Given the description of an element on the screen output the (x, y) to click on. 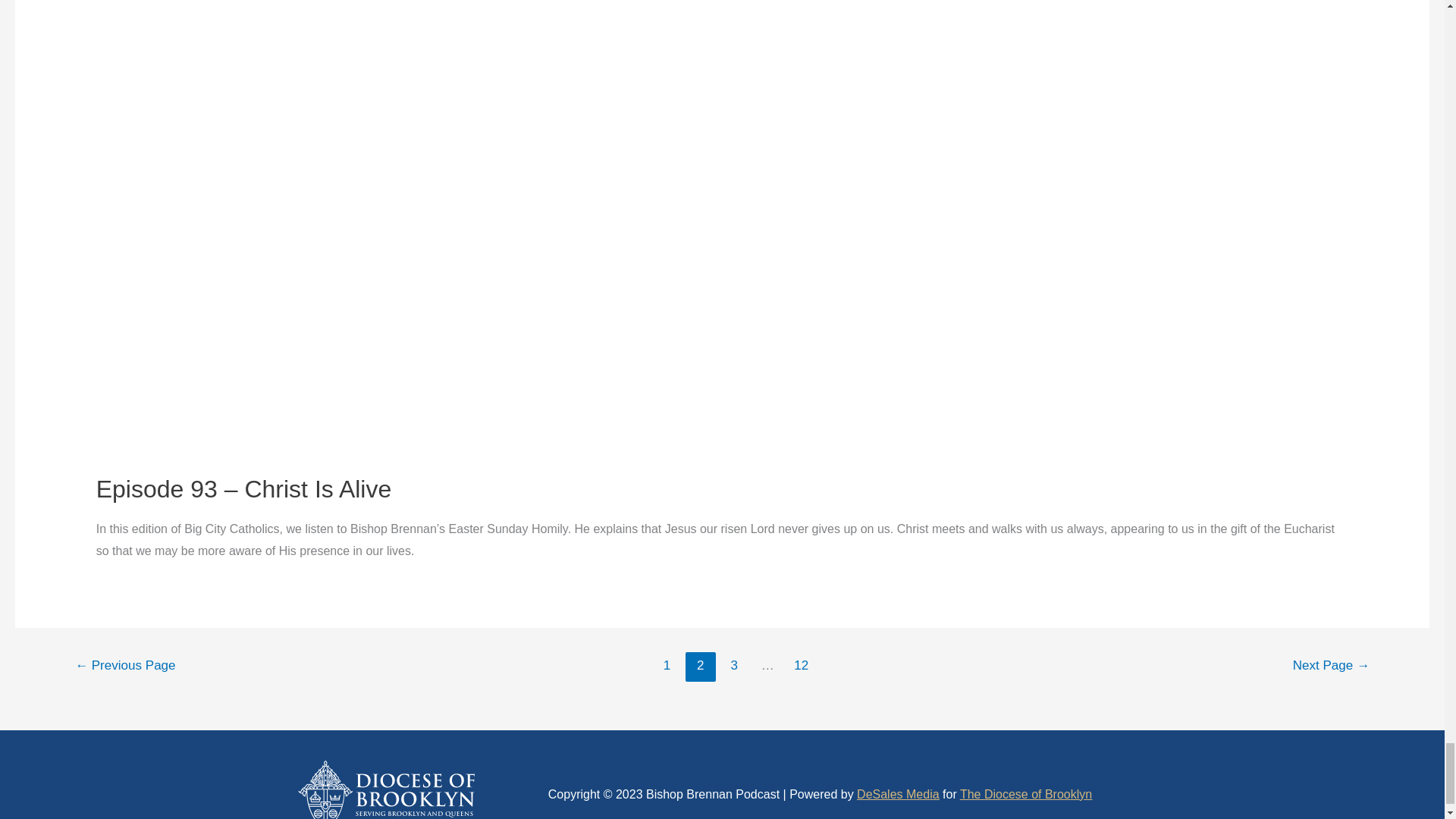
1 (667, 666)
DeSales Media (898, 793)
12 (801, 666)
The Diocese of Brooklyn (1025, 793)
3 (734, 666)
